Given the description of an element on the screen output the (x, y) to click on. 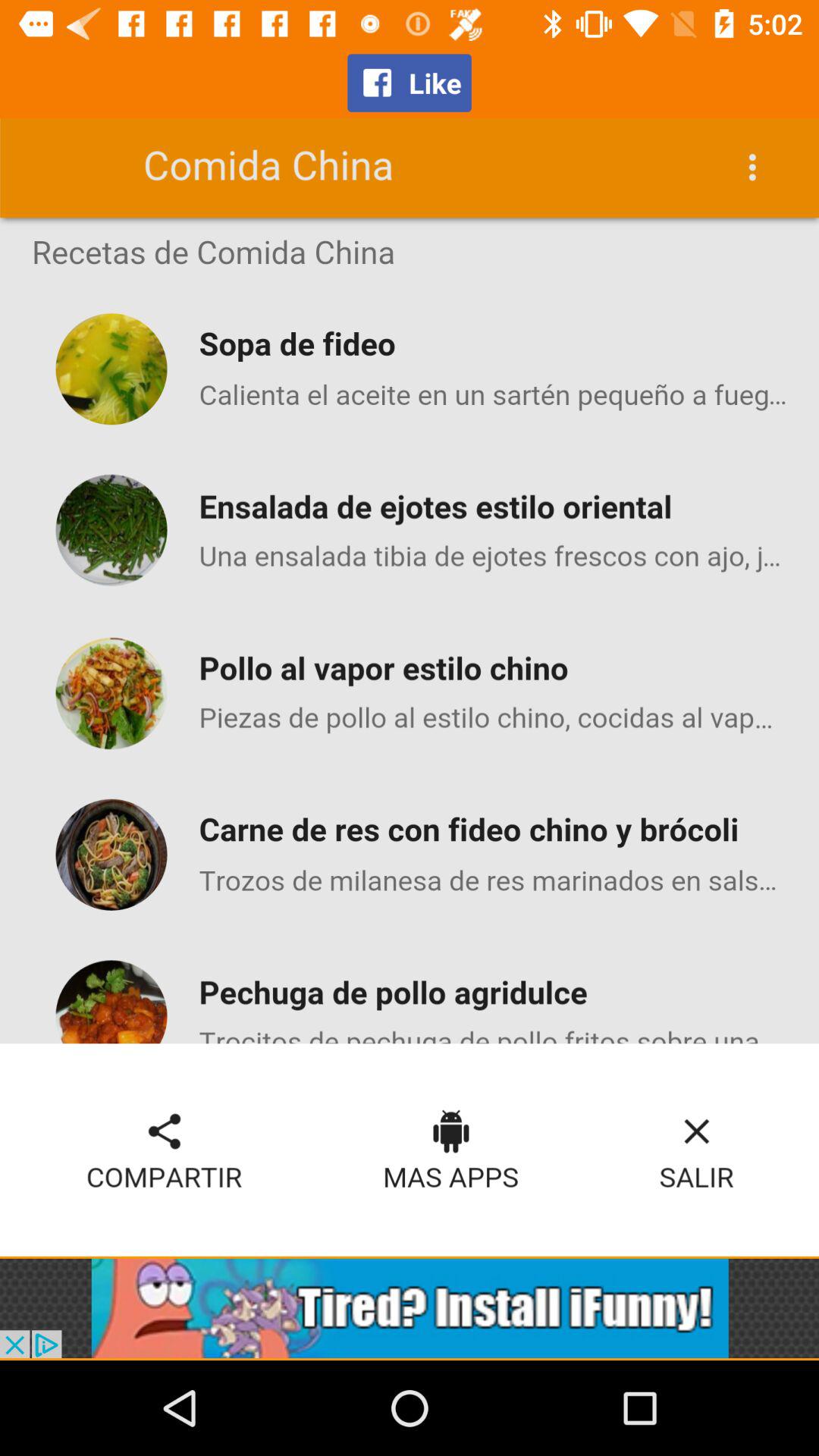
open advertisement (409, 1308)
